Given the description of an element on the screen output the (x, y) to click on. 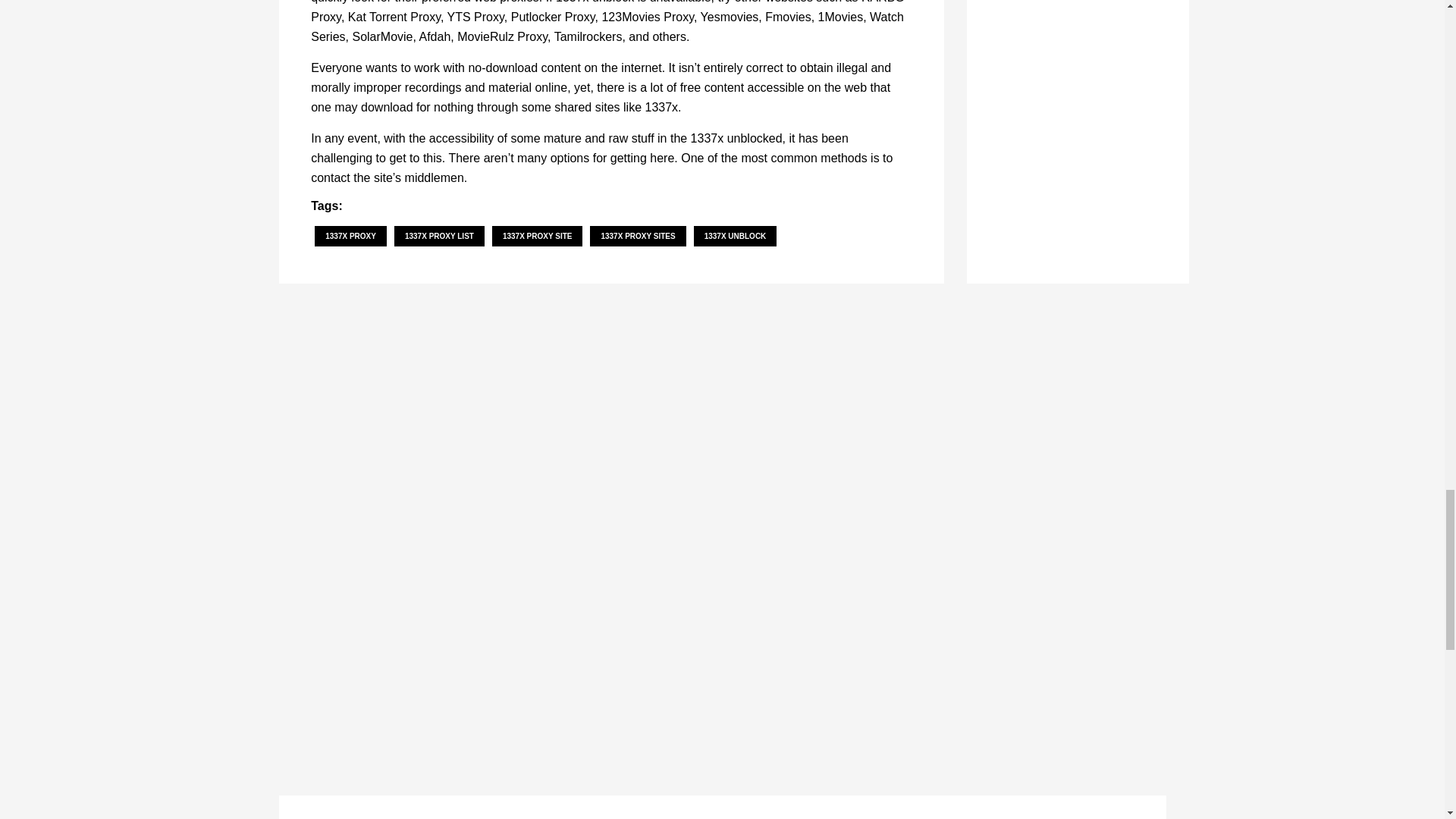
1337X PROXY (350, 236)
1337X UNBLOCK (735, 236)
1337X PROXY SITES (637, 236)
1337X PROXY LIST (439, 236)
1337X PROXY SITE (537, 236)
